Given the description of an element on the screen output the (x, y) to click on. 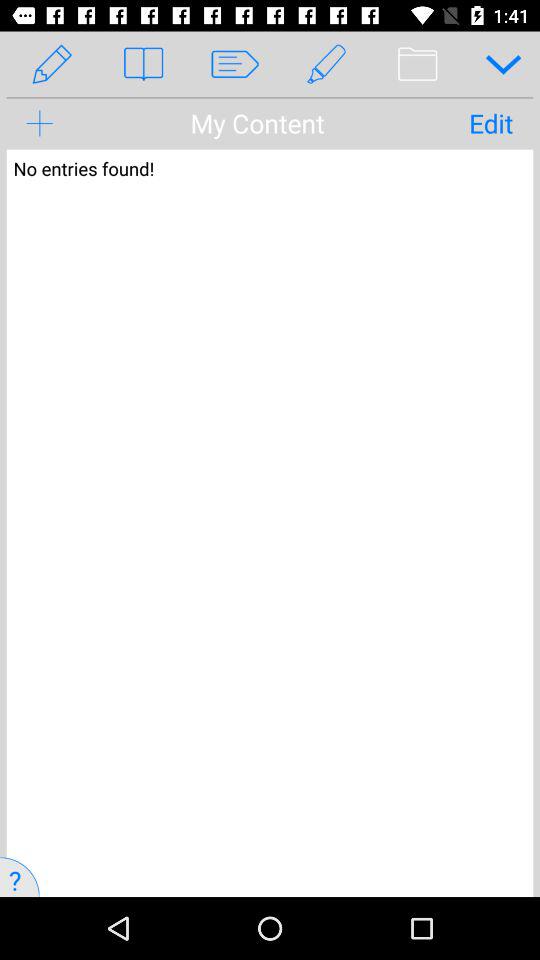
select the third symbol from left (234, 64)
select the second symbol from left (143, 64)
click on the image left of file manger icon (326, 64)
click on the text which is to the right side of the my content (490, 123)
select the icon in the first line which is right side of the pencil icon (270, 52)
